Given the description of an element on the screen output the (x, y) to click on. 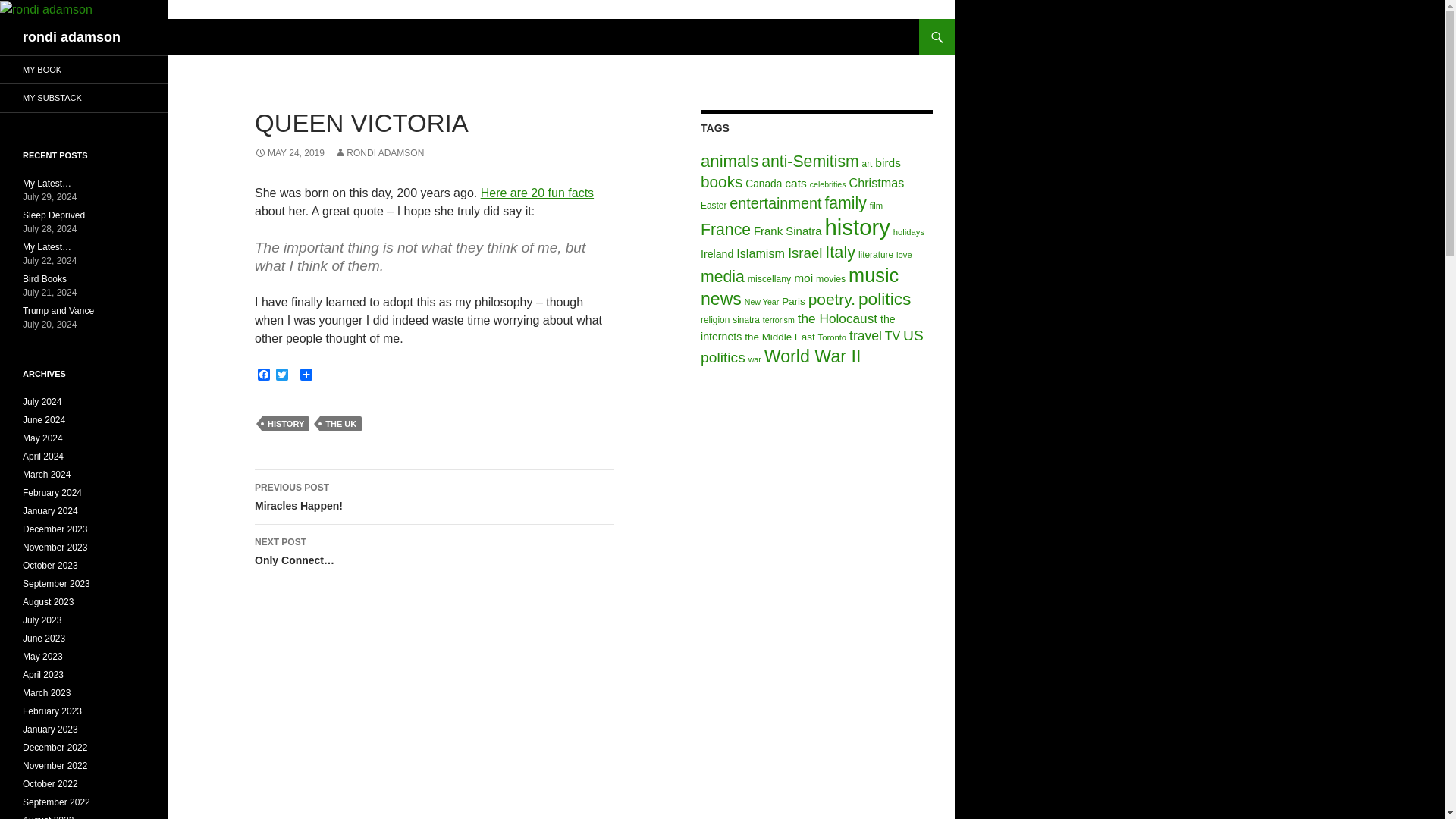
THE UK (340, 423)
Twitter (282, 375)
books (721, 181)
celebrities (827, 184)
Facebook (263, 375)
Facebook (263, 375)
holidays (908, 231)
literature (876, 254)
film (876, 204)
love (904, 254)
Frank Sinatra (788, 230)
art (866, 163)
Ireland (716, 254)
HISTORY (285, 423)
Twitter (282, 375)
